Given the description of an element on the screen output the (x, y) to click on. 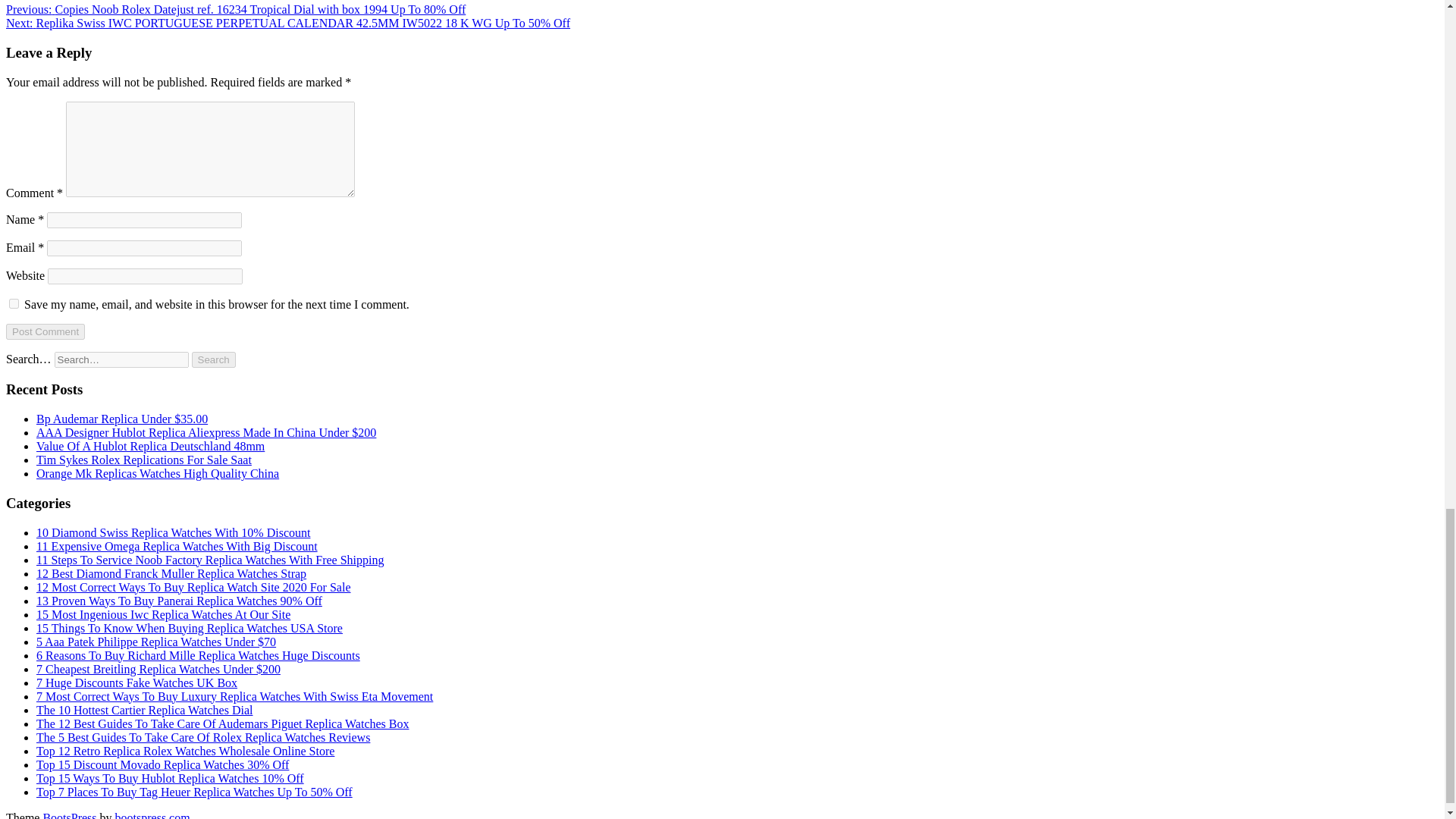
12 Most Correct Ways To Buy Replica Watch Site 2020 For Sale (193, 586)
Value Of A Hublot Replica Deutschland 48mm (150, 445)
7 Huge Discounts Fake Watches UK Box (136, 682)
Search (213, 359)
yes (13, 303)
15 Most Ingenious Iwc Replica Watches At Our Site (162, 614)
15 Things To Know When Buying Replica Watches USA Store (189, 627)
Post Comment (44, 331)
